Given the description of an element on the screen output the (x, y) to click on. 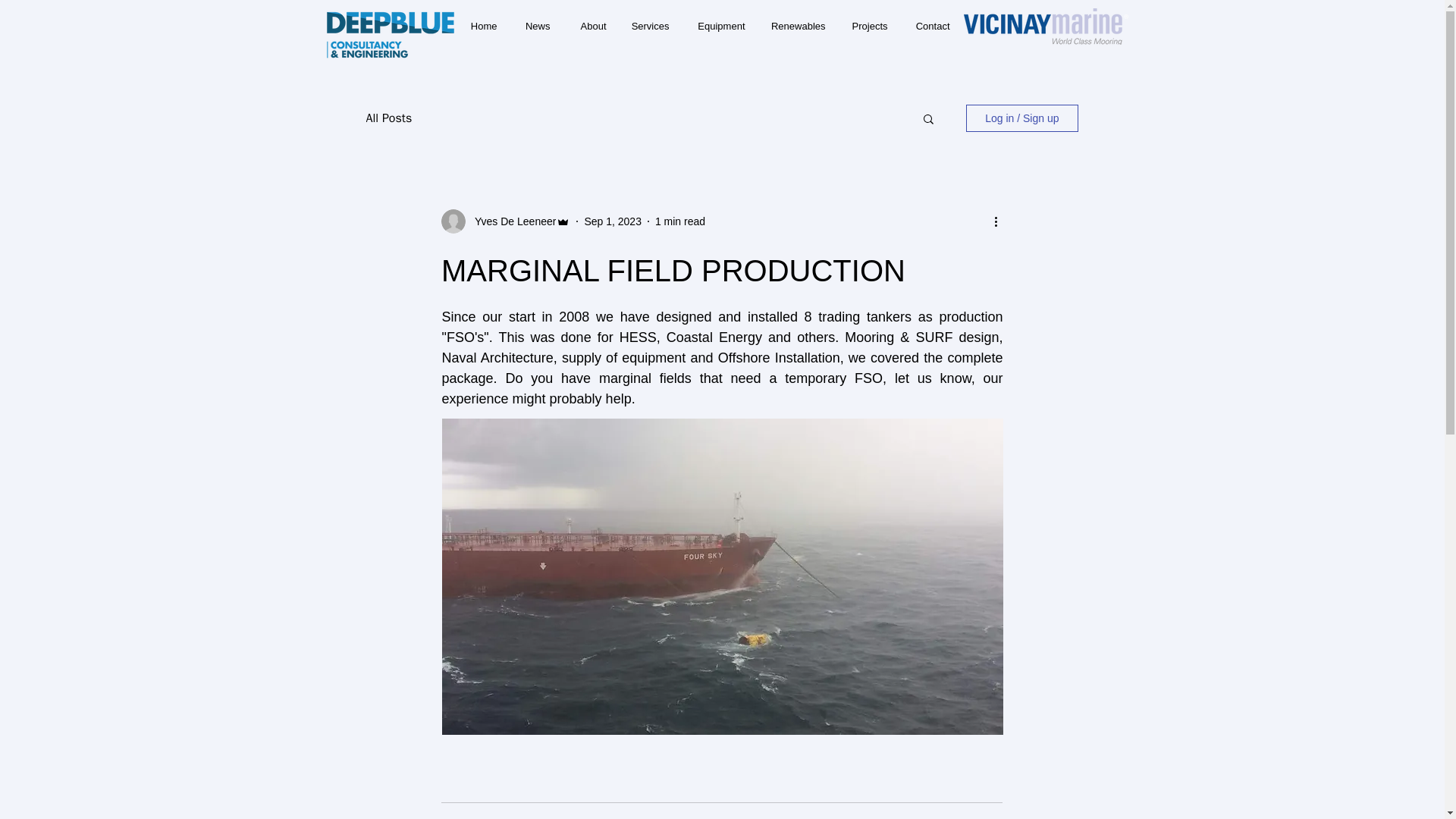
Contact (929, 26)
News (534, 26)
1 min read (679, 221)
All Posts (388, 118)
About (588, 26)
Projects (868, 26)
Equipment (719, 26)
Home (480, 26)
Services (648, 26)
Renewables (797, 26)
